Given the description of an element on the screen output the (x, y) to click on. 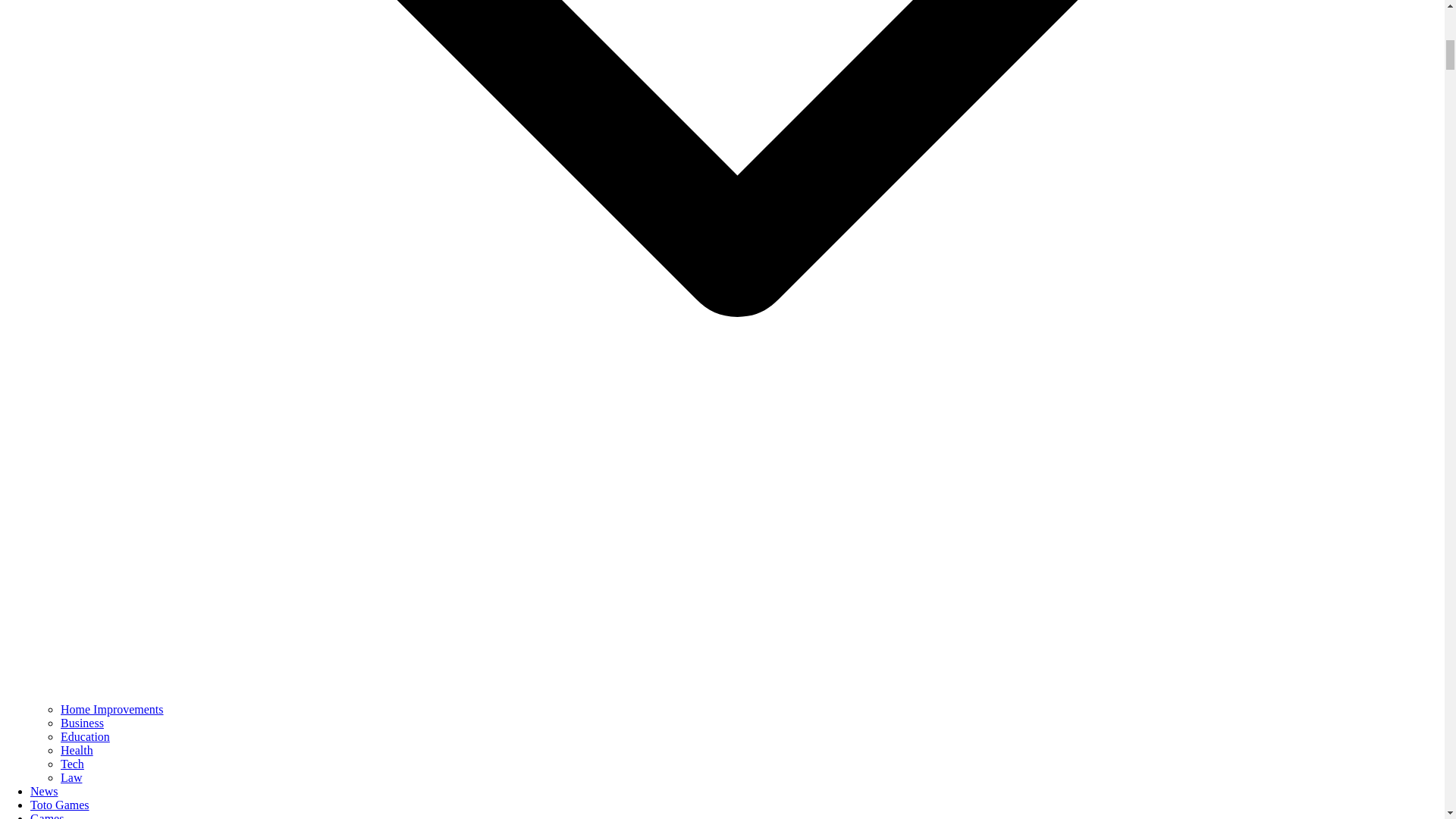
News (44, 790)
Home Improvements (112, 708)
Toto Games (59, 804)
Law (71, 777)
Tech (72, 763)
Education (85, 736)
Health (77, 749)
Business (82, 722)
